Given the description of an element on the screen output the (x, y) to click on. 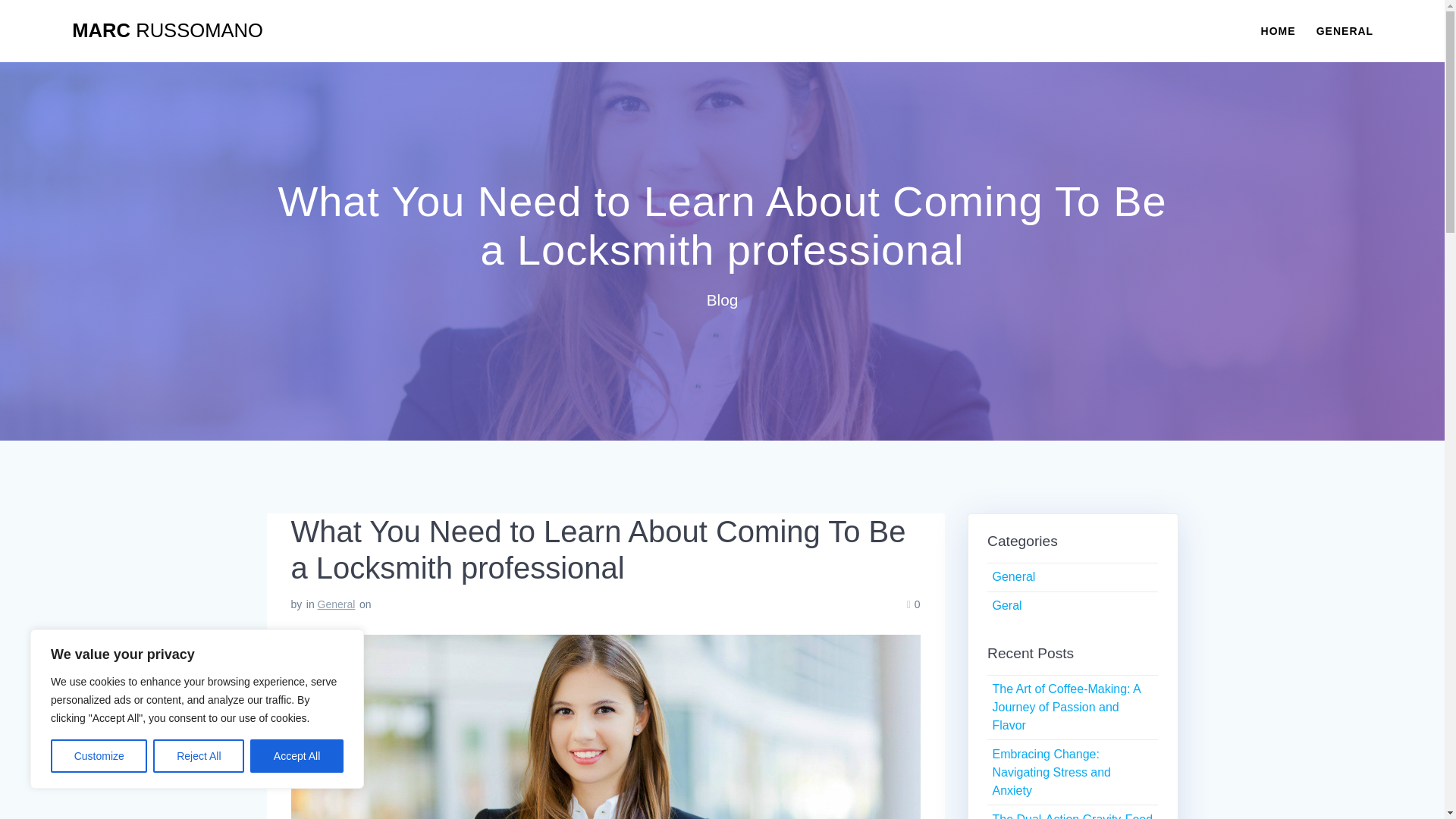
General (336, 604)
General (1013, 576)
MARC RUSSOMANO (167, 30)
Customize (98, 756)
GENERAL (1344, 30)
HOME (1277, 30)
The Art of Coffee-Making: A Journey of Passion and Flavor (1065, 707)
Accept All (296, 756)
Embracing Change: Navigating Stress and Anxiety (1050, 771)
